Given the description of an element on the screen output the (x, y) to click on. 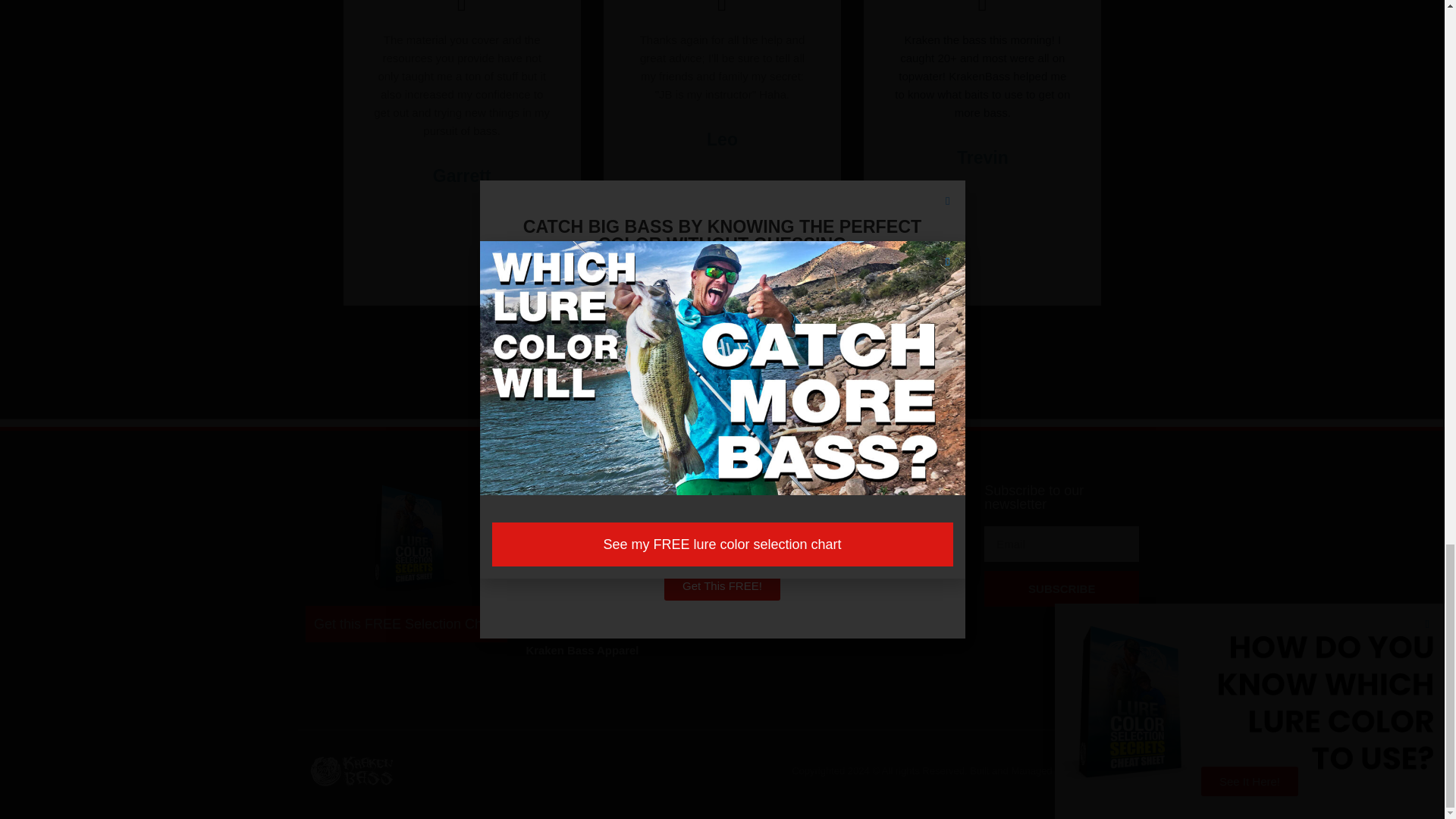
Bait Selection Tools (593, 544)
Get this FREE Selection Chart (405, 624)
All Products (593, 522)
